Given the description of an element on the screen output the (x, y) to click on. 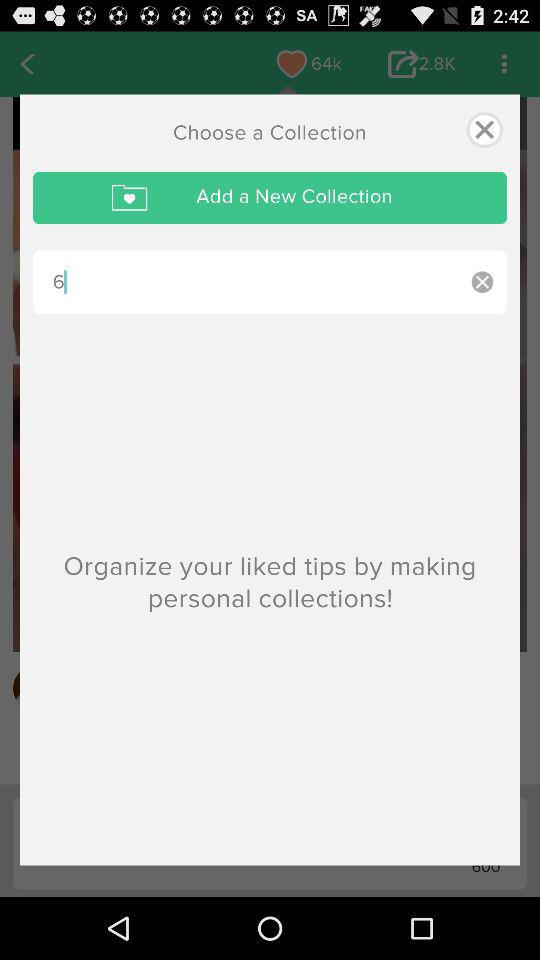
jump until 6 item (245, 281)
